Given the description of an element on the screen output the (x, y) to click on. 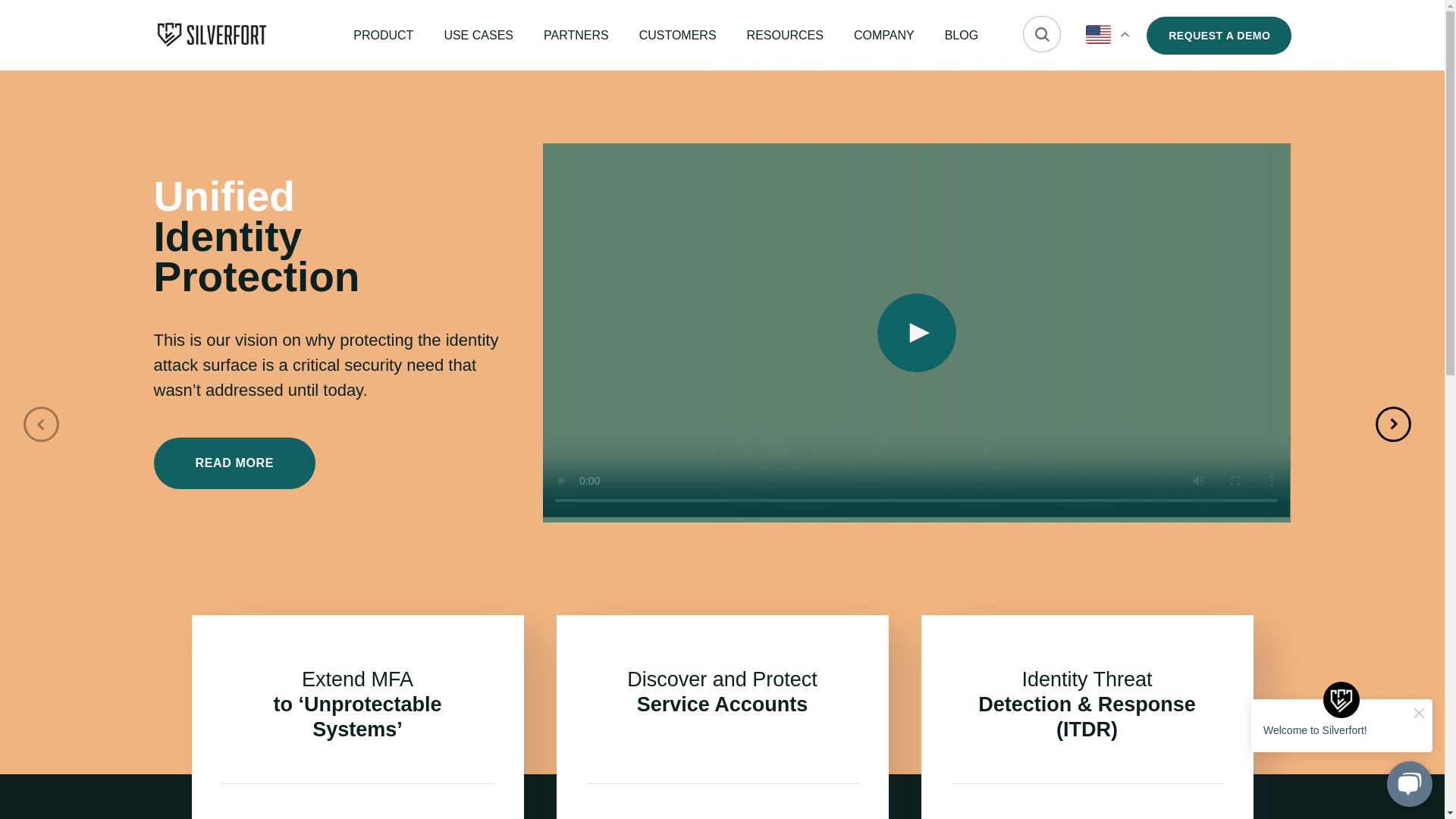
CUSTOMERS (677, 35)
USE CASES (478, 35)
PARTNERS (575, 35)
PRODUCT (383, 35)
RESOURCES (785, 35)
